Given the description of an element on the screen output the (x, y) to click on. 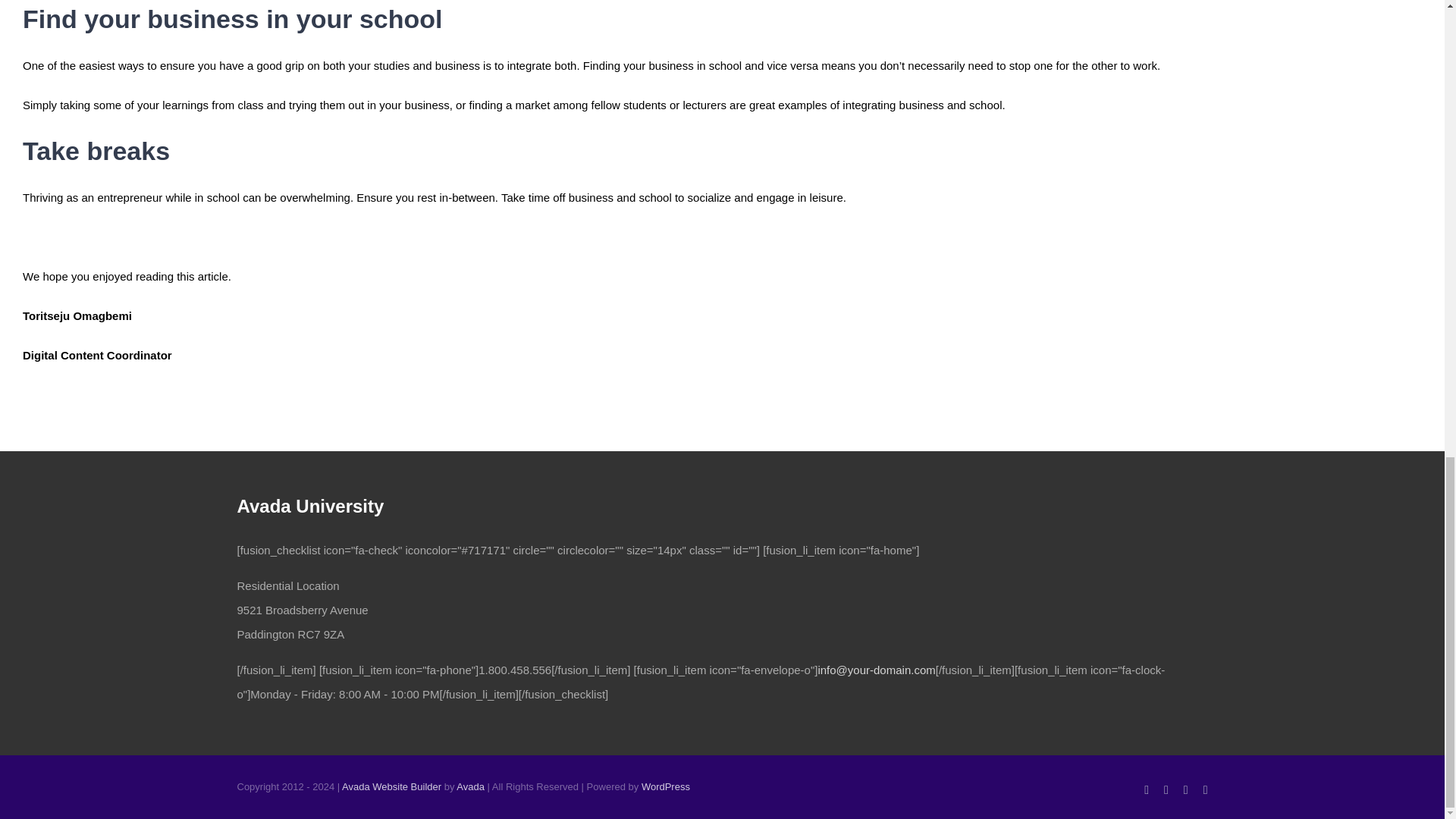
Avada (470, 786)
WordPress (666, 786)
Avada Website Builder (391, 786)
